Given the description of an element on the screen output the (x, y) to click on. 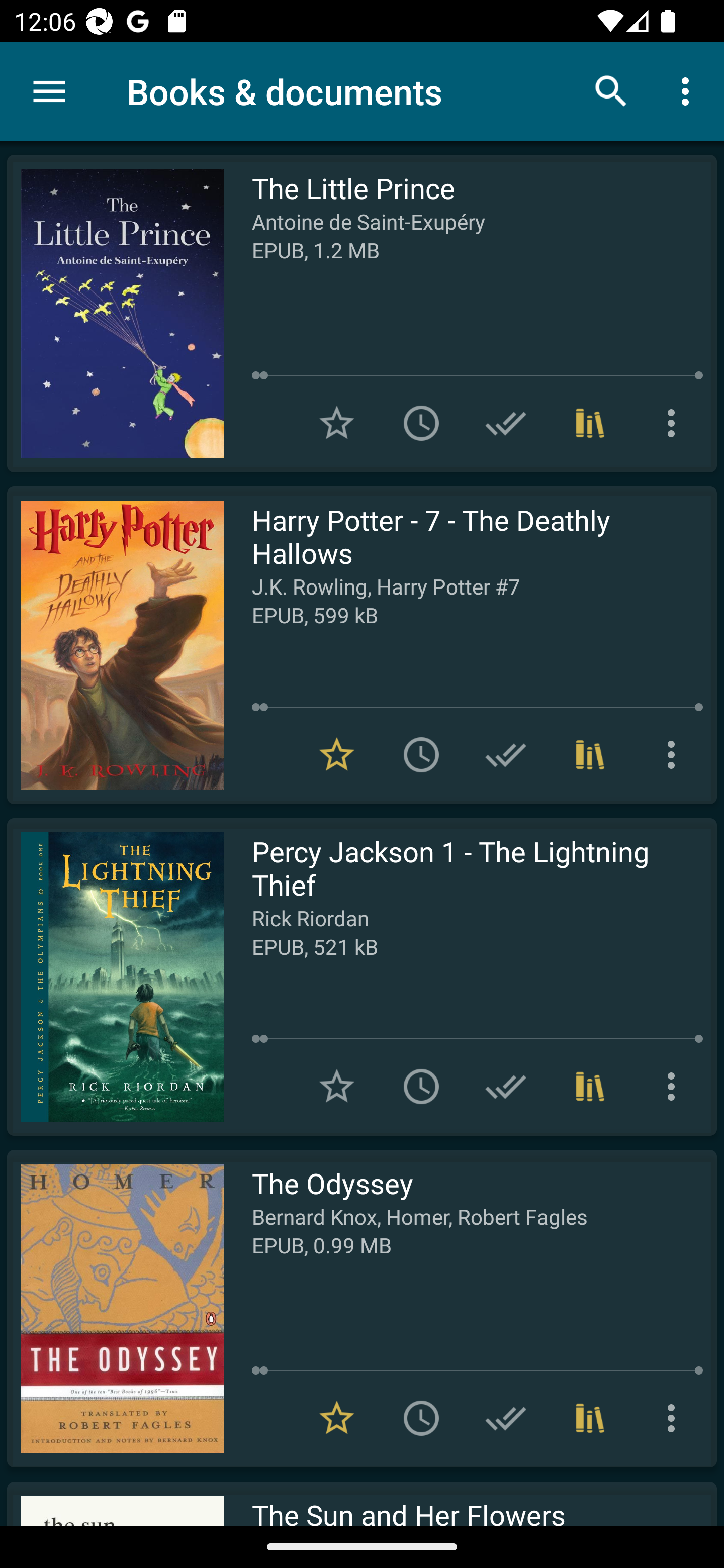
Menu (49, 91)
Search books & documents (611, 90)
More options (688, 90)
Read The Little Prince (115, 313)
Add to Favorites (336, 423)
Add to To read (421, 423)
Add to Have read (505, 423)
Collections (1) (590, 423)
More options (674, 423)
Read Harry Potter - 7 - The Deathly Hallows (115, 645)
Remove from Favorites (336, 753)
Add to To read (421, 753)
Add to Have read (505, 753)
Collections (1) (590, 753)
More options (674, 753)
Read Percy Jackson 1 - The Lightning Thief (115, 976)
Add to Favorites (336, 1086)
Add to To read (421, 1086)
Add to Have read (505, 1086)
Collections (1) (590, 1086)
More options (674, 1086)
Read The Odyssey (115, 1308)
Remove from Favorites (336, 1417)
Add to To read (421, 1417)
Add to Have read (505, 1417)
Collections (2) (590, 1417)
More options (674, 1417)
